Given the description of an element on the screen output the (x, y) to click on. 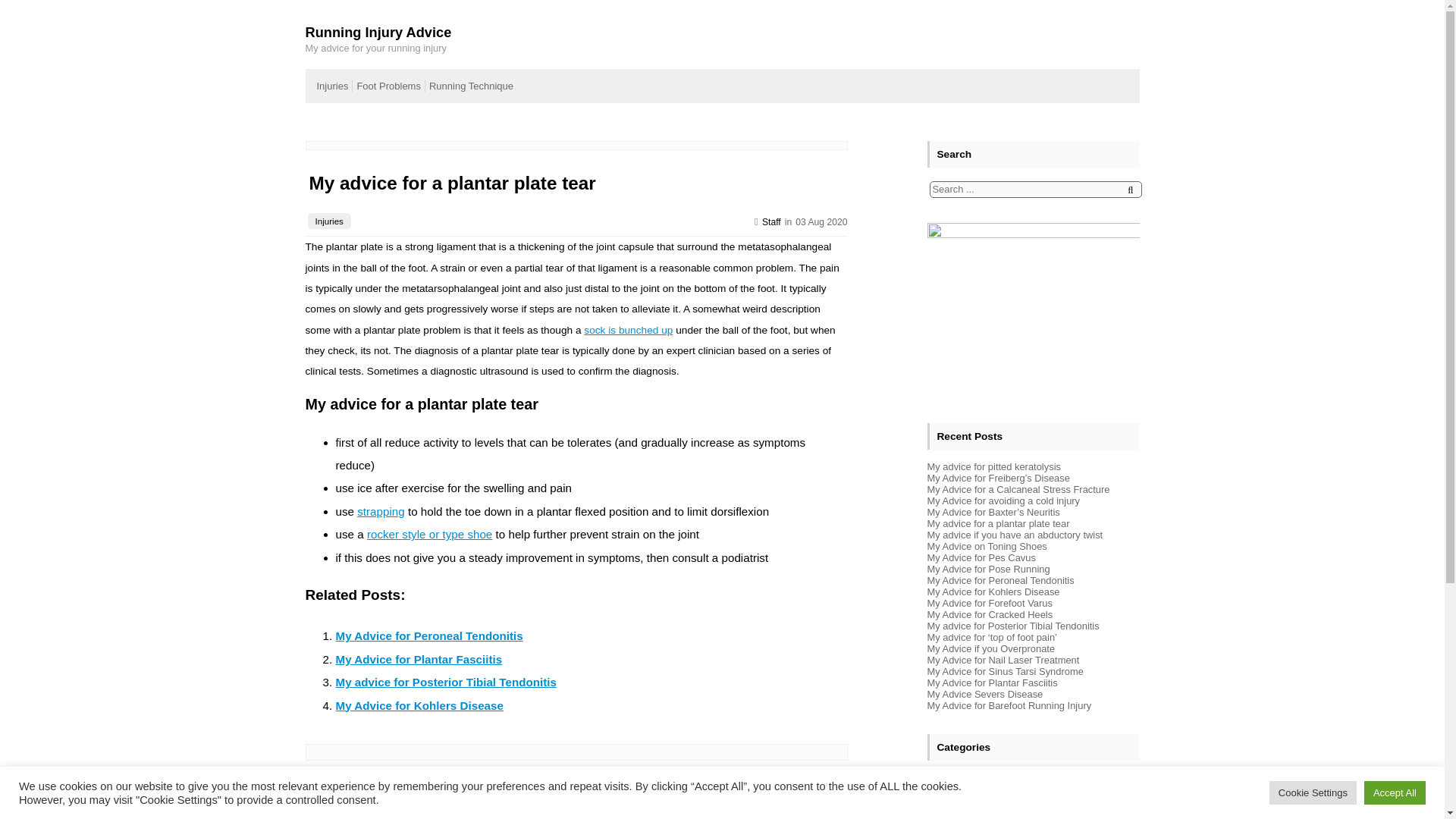
My advice for pitted keratolysis (992, 466)
My Advice for Sinus Tarsi Syndrome (1004, 671)
My Advice if you Overpronate (990, 648)
My Advice for Kohlers Disease (418, 705)
My advice for a plantar plate tear (451, 182)
My Advice for Forefoot Varus (988, 603)
My Advice for Pes Cavus (980, 557)
Foot Problems (388, 85)
My Advice for Plantar Fasciitis (418, 658)
My advice for Posterior Tibial Tendonitis (1012, 625)
Injuries (333, 85)
My advice for Posterior Tibial Tendonitis (445, 681)
My Advice for Cracked Heels (989, 614)
My Advice for Nail Laser Treatment (1002, 659)
Running Injury Advice (377, 32)
